Given the description of an element on the screen output the (x, y) to click on. 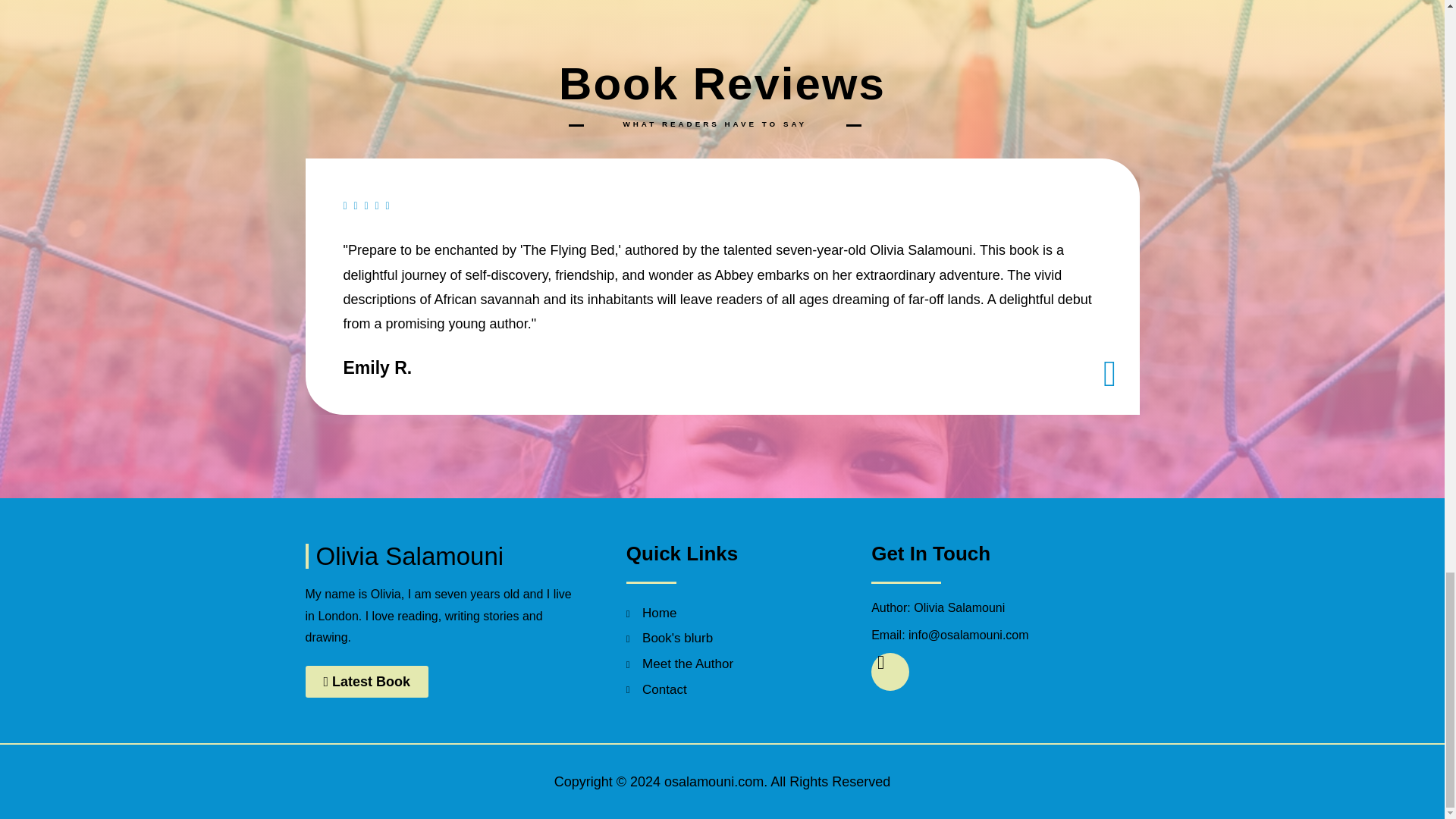
Latest Book (366, 681)
Contact (722, 689)
Book's blurb (722, 638)
Home (722, 613)
Meet the Author (722, 664)
